Given the description of an element on the screen output the (x, y) to click on. 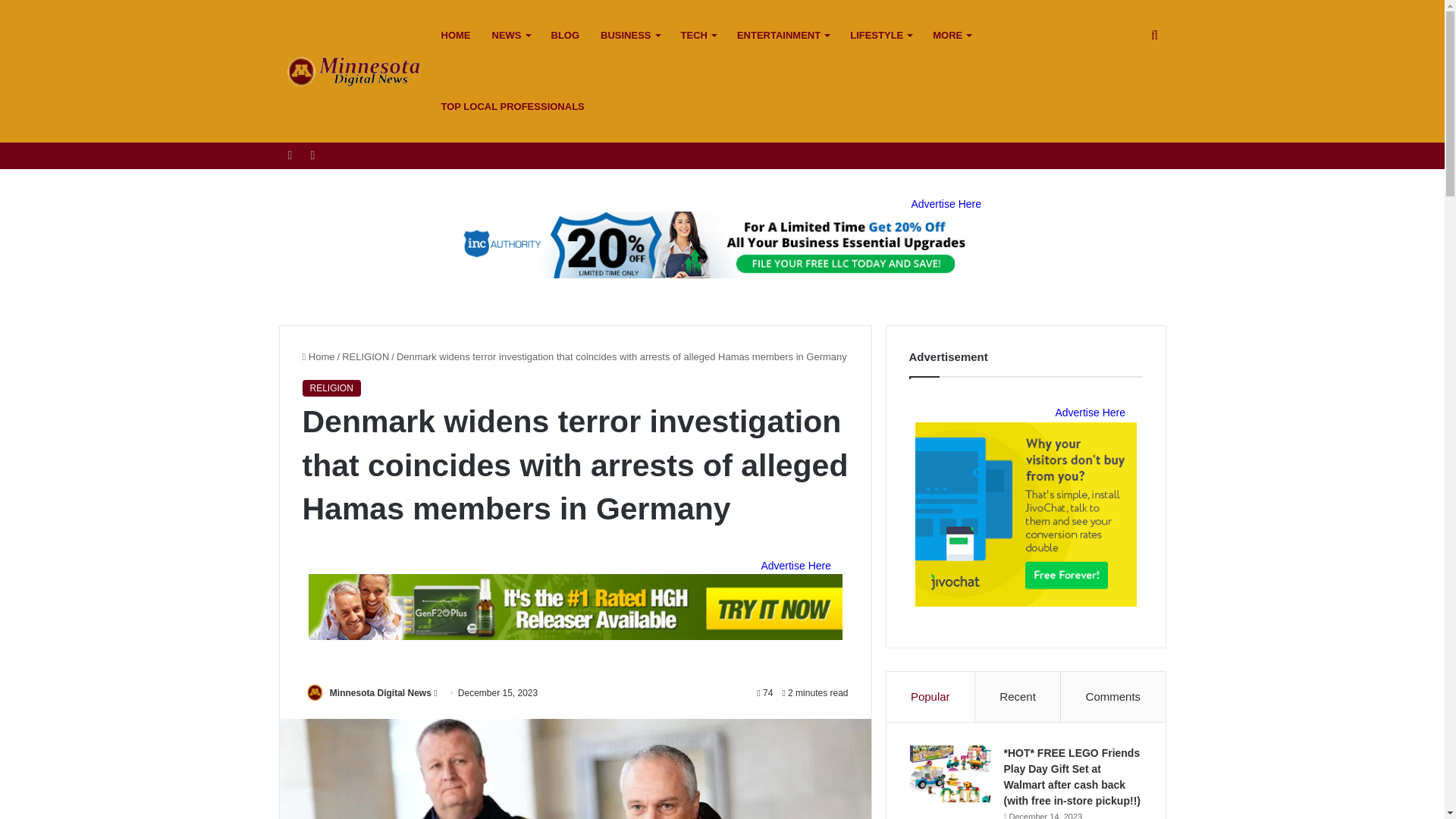
ENTERTAINMENT (783, 35)
Minnesota Digital News (380, 692)
Minnesota Digital News (354, 70)
LIFESTYLE (880, 35)
BUSINESS (629, 35)
